Given the description of an element on the screen output the (x, y) to click on. 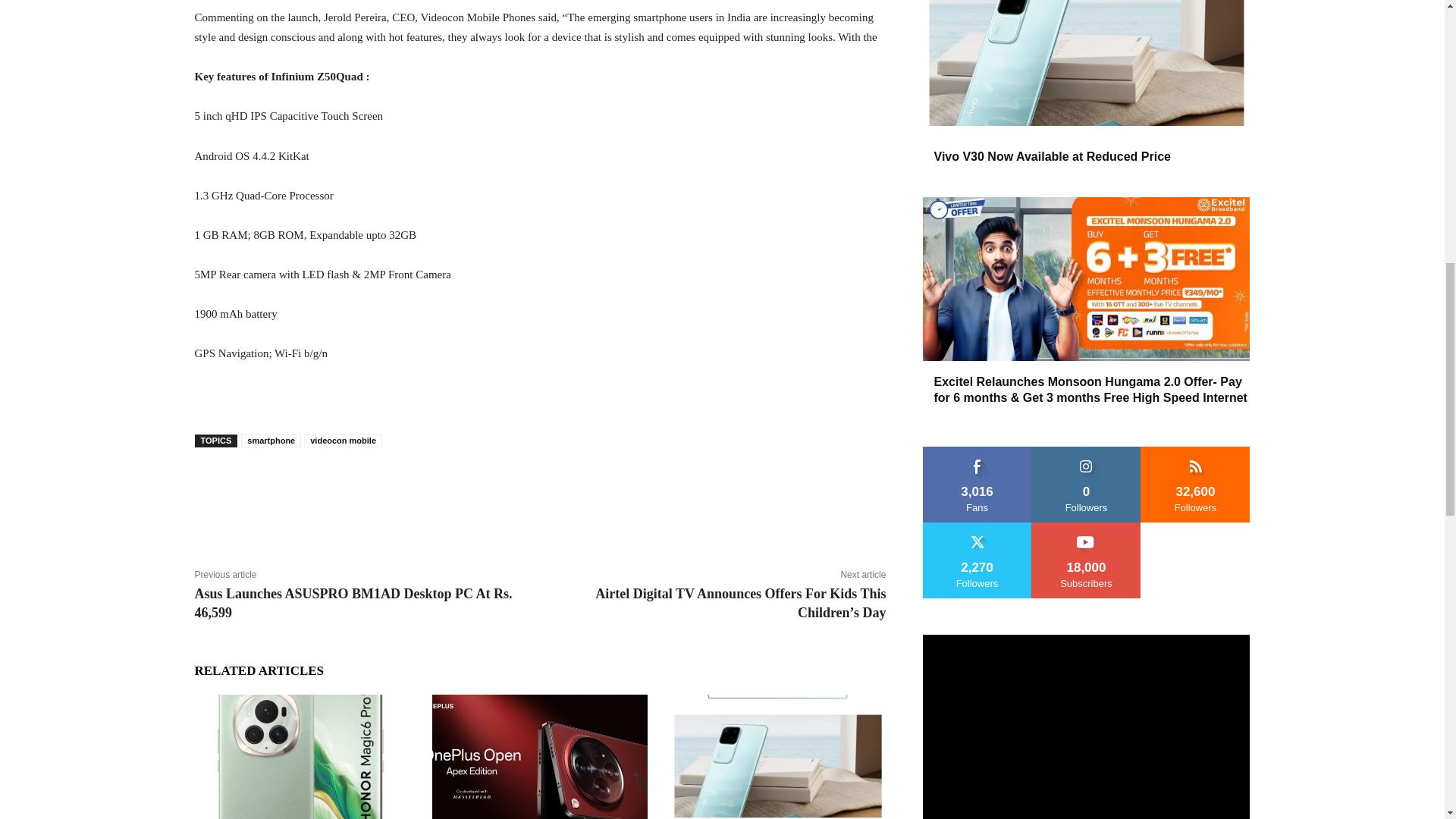
smartphone (271, 440)
Asus Launches ASUSPRO BM1AD Desktop PC At Rs. 46,599 (352, 602)
videocon mobile (342, 440)
